Given the description of an element on the screen output the (x, y) to click on. 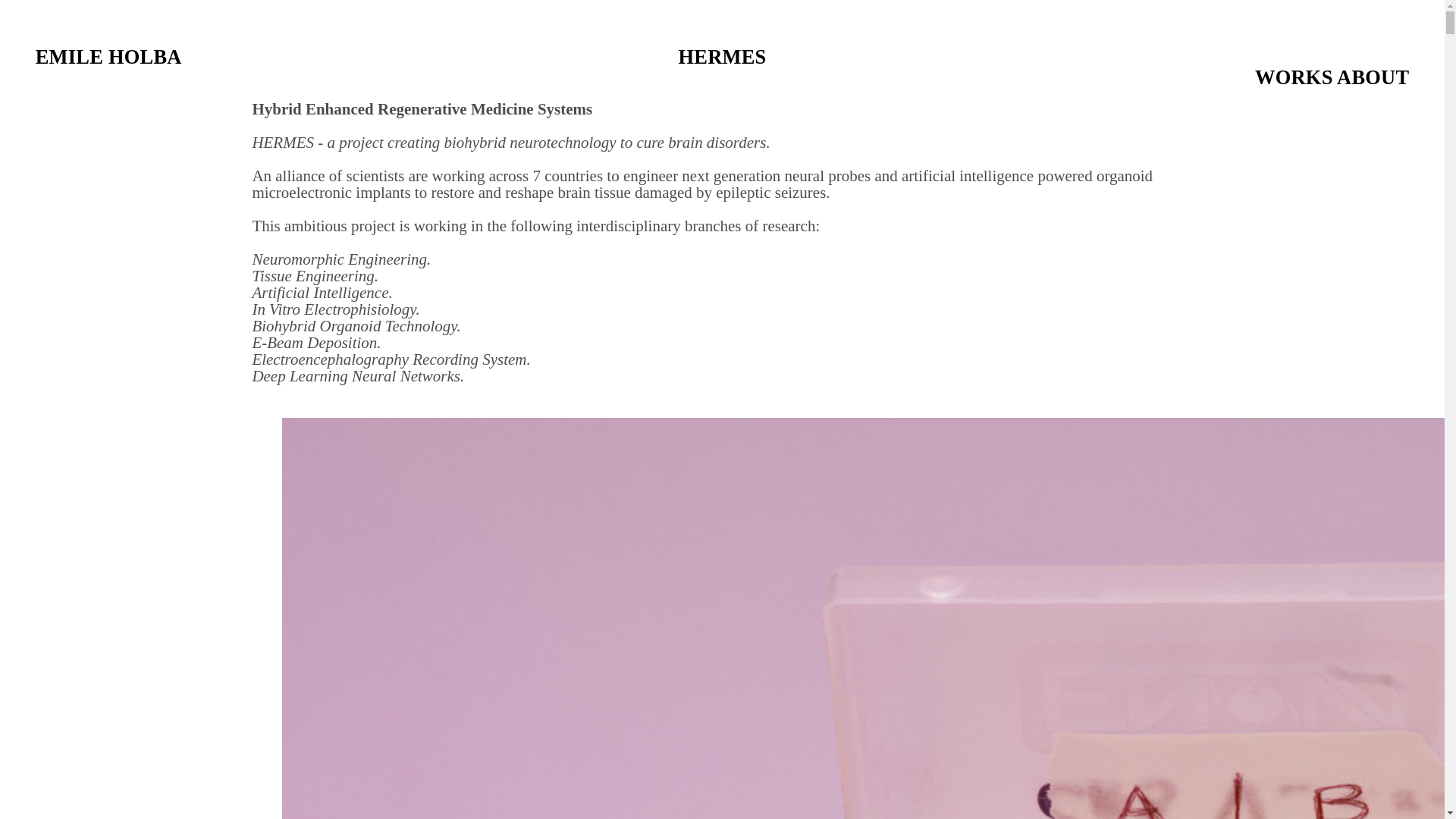
WORKS (1294, 77)
EMILE HOLBA (721, 56)
ABOUT (1372, 77)
